Given the description of an element on the screen output the (x, y) to click on. 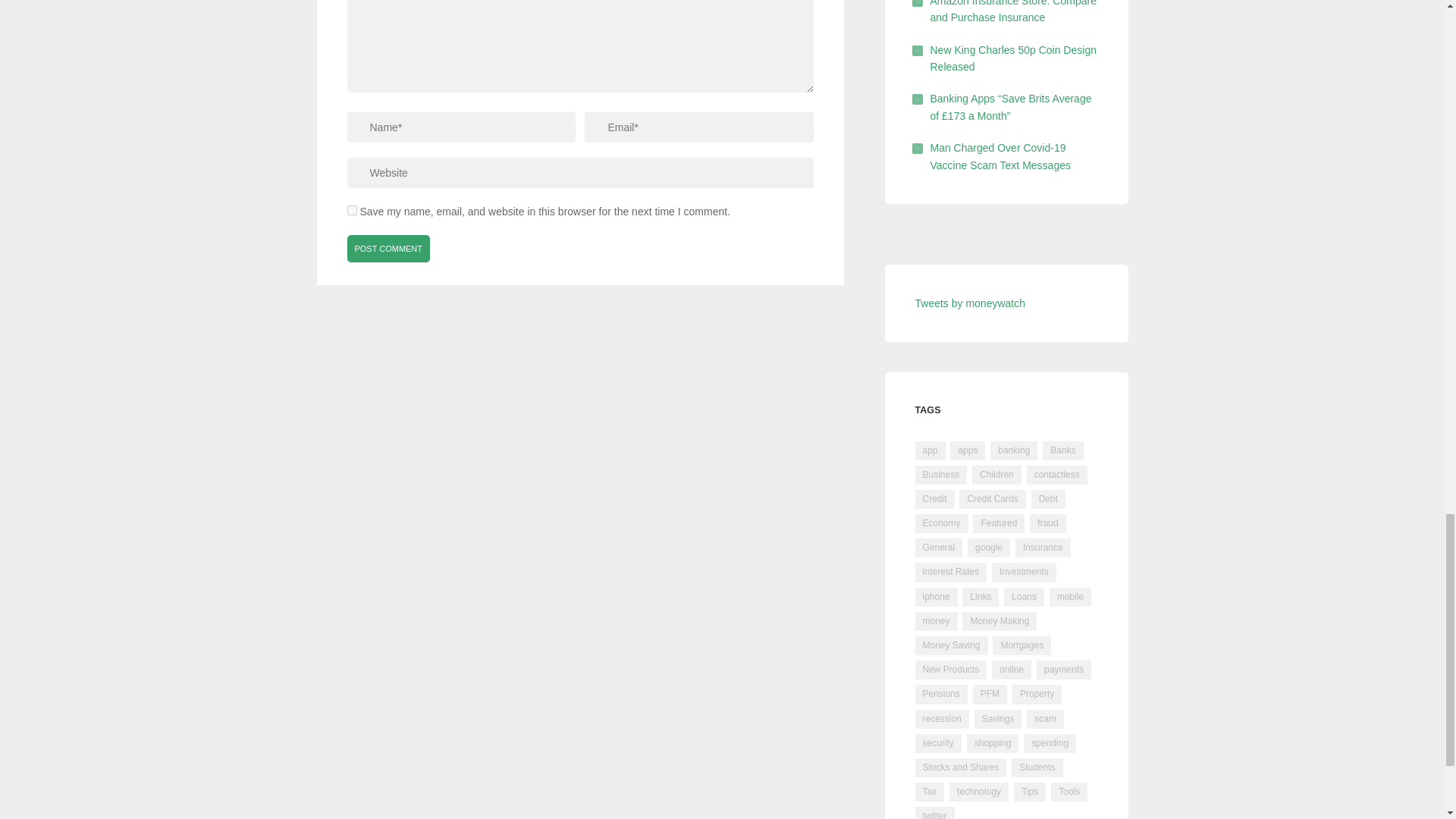
yes (351, 210)
Post Comment (388, 248)
Amazon Insurance Store: Compare and Purchase Insurance (1013, 11)
Post Comment (388, 248)
